Given the description of an element on the screen output the (x, y) to click on. 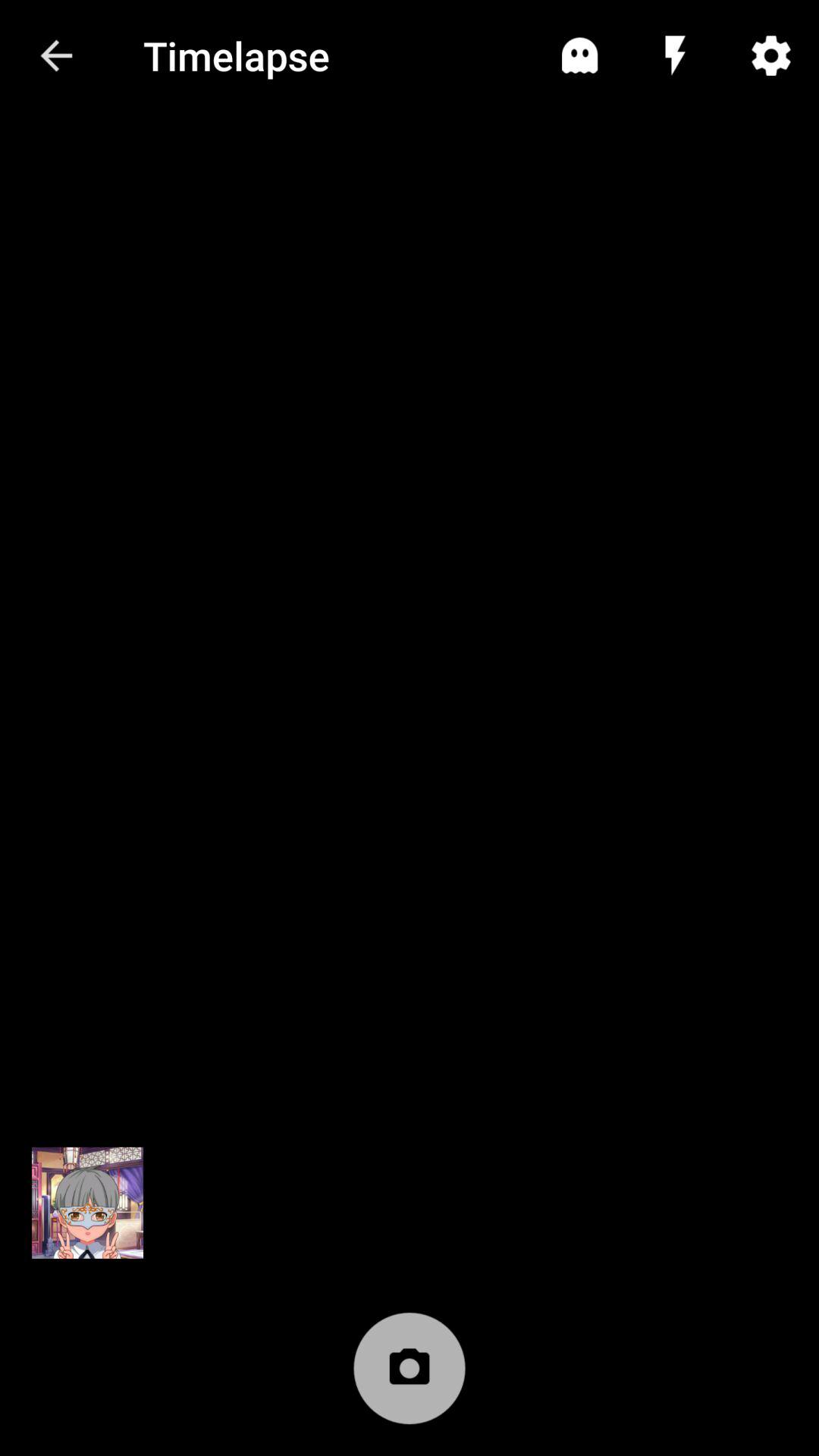
turn on the icon next to timelapse icon (579, 55)
